Given the description of an element on the screen output the (x, y) to click on. 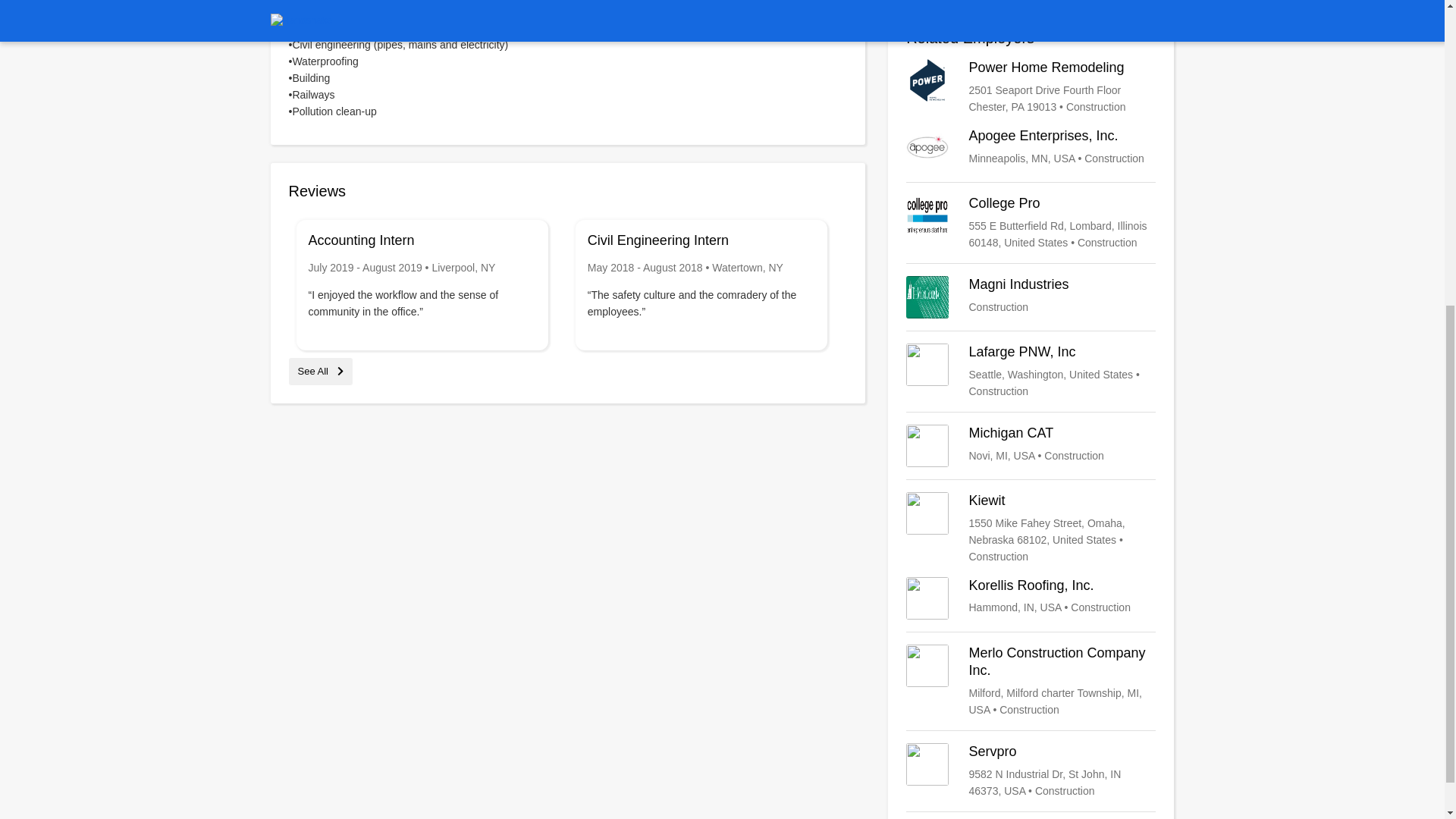
Korellis Roofing, Inc. (1030, 598)
Magni Industries (1030, 297)
Merlo Construction Company Inc. (1030, 297)
College Pro (1030, 681)
Lafarge PNW, Inc (1030, 222)
See All (1030, 371)
Kiewit (320, 370)
Power Home Remodeling (1030, 528)
Michigan CAT (1030, 86)
Servpro (1030, 445)
Apogee Enterprises, Inc. (1030, 770)
